Given the description of an element on the screen output the (x, y) to click on. 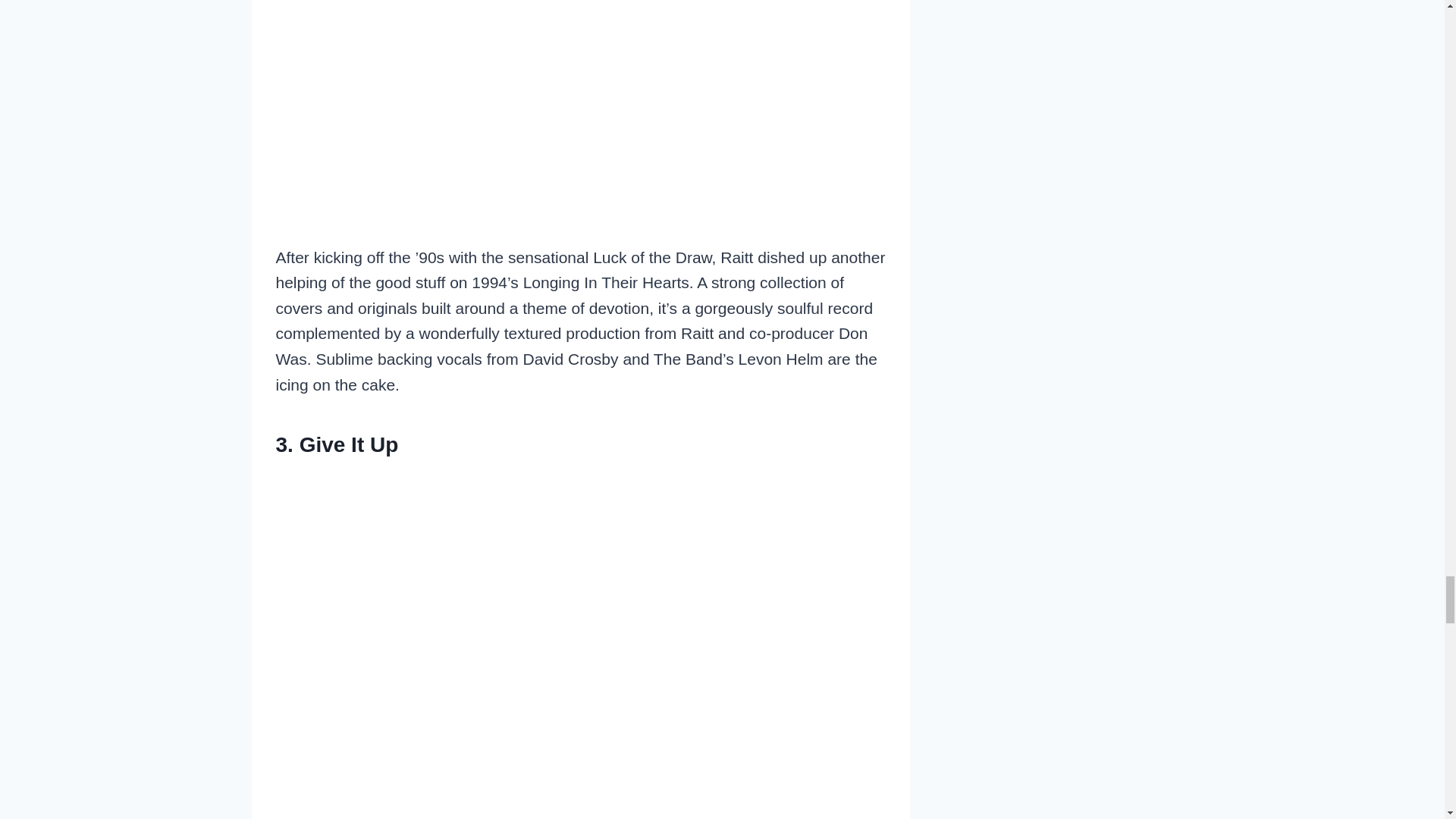
Love Sneakin' Up On You (581, 85)
